Given the description of an element on the screen output the (x, y) to click on. 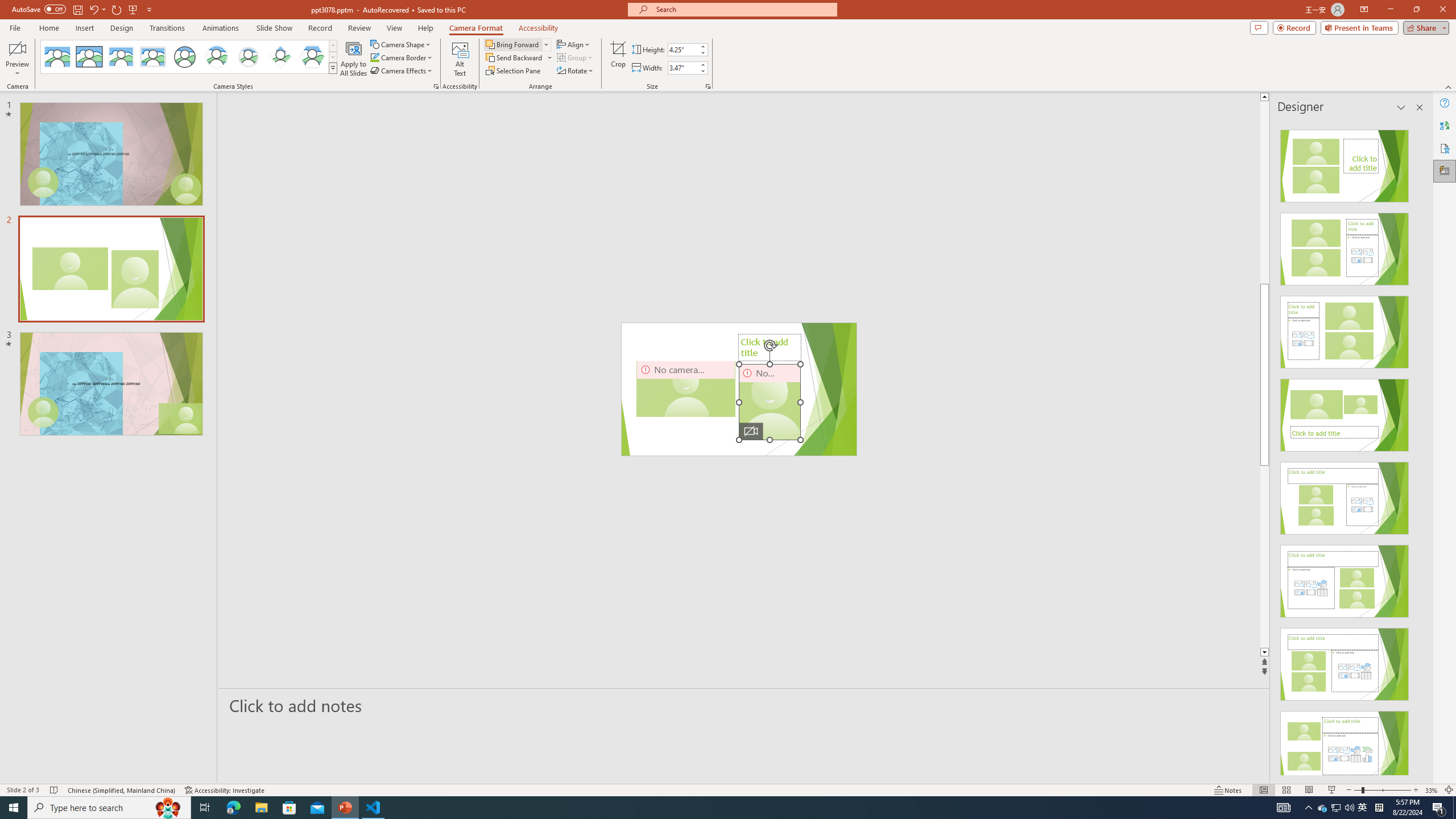
Center Shadow Circle (216, 56)
Center Shadow Hexagon (312, 56)
